Given the description of an element on the screen output the (x, y) to click on. 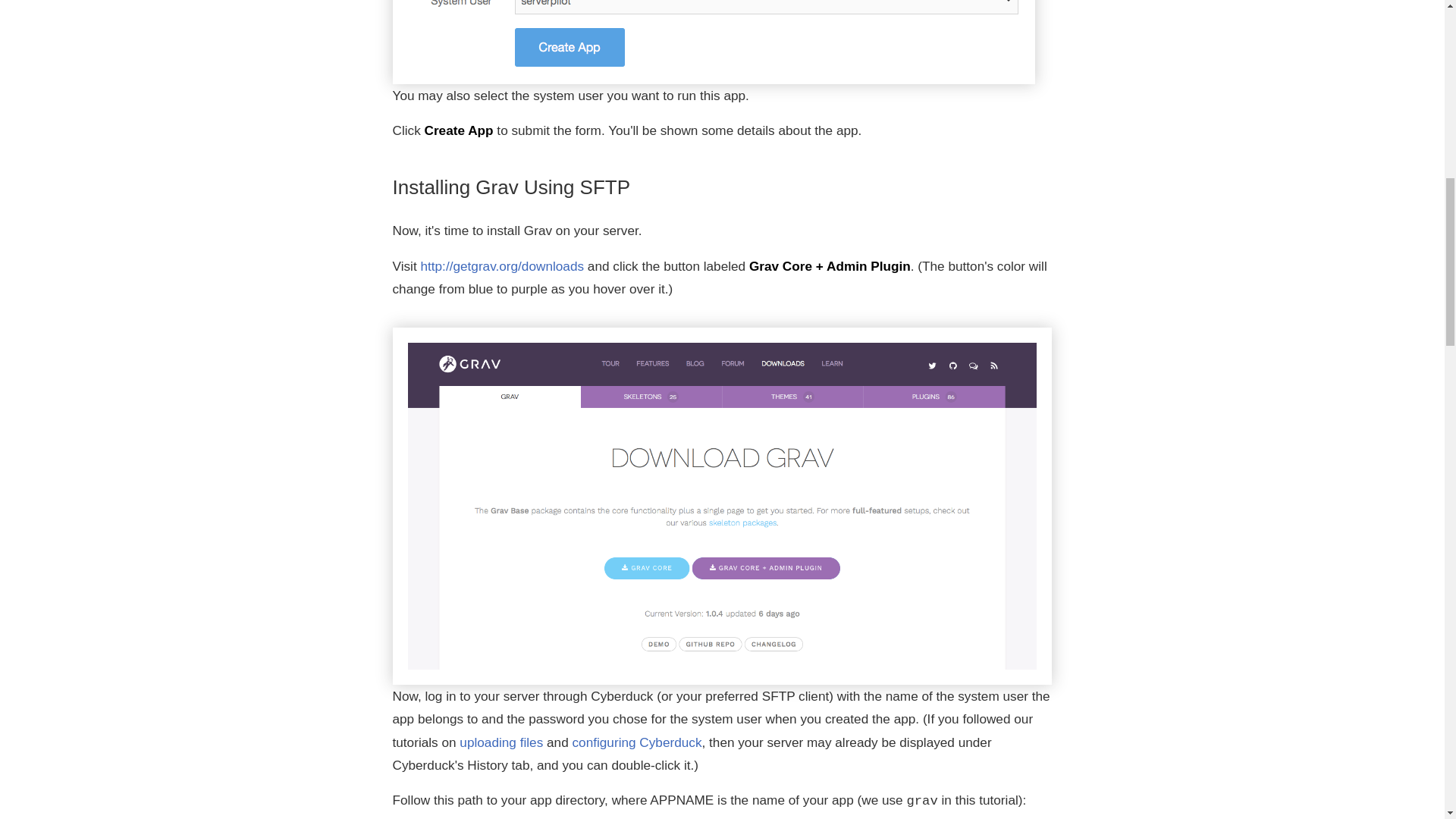
configuring Cyberduck (636, 742)
uploading files (501, 742)
